Given the description of an element on the screen output the (x, y) to click on. 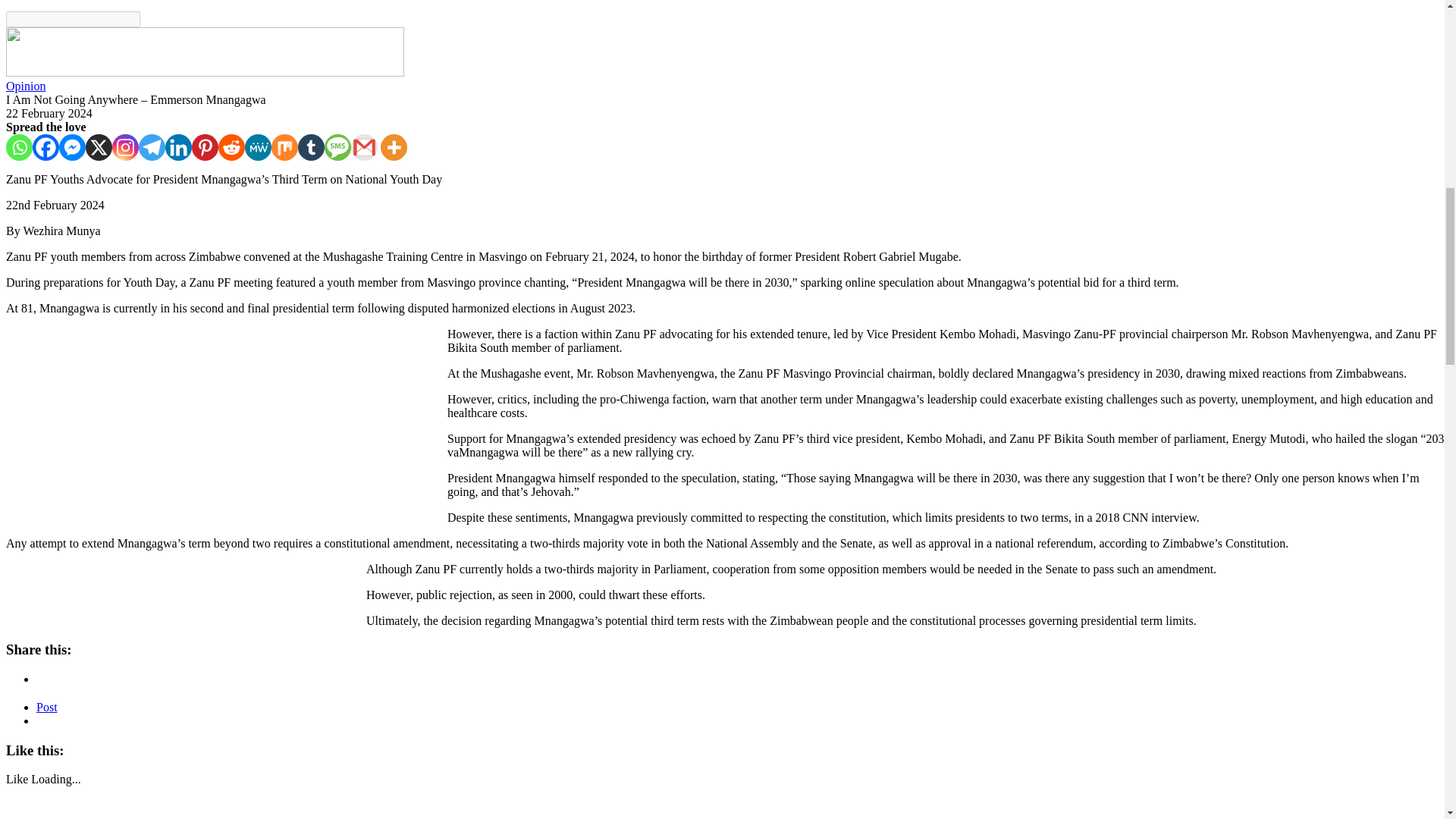
Mix (284, 147)
Telegram (151, 147)
Opinion (25, 85)
Linkedin (178, 147)
Instagram (125, 147)
MeWe (257, 147)
Pinterest (205, 147)
Reddit (231, 147)
Search (72, 19)
Whatsapp (18, 147)
